Given the description of an element on the screen output the (x, y) to click on. 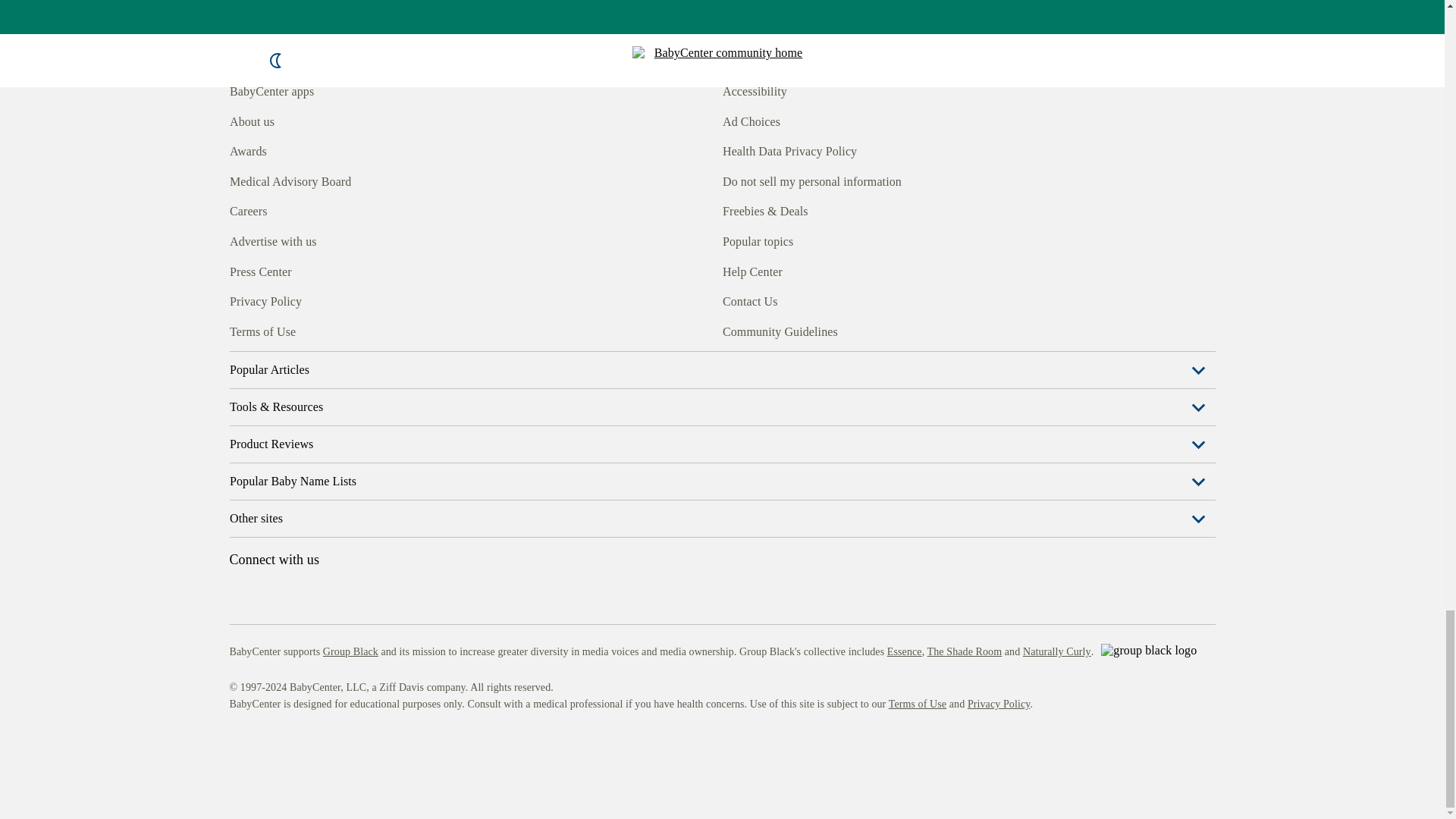
BabyCenter YouTube channel (344, 329)
BabyCenter Twitter feed (379, 329)
BabyCenter Instagram feed (274, 329)
BabyCenter Facebook page (239, 329)
BabyCenter Pinterest board (309, 329)
